Given the description of an element on the screen output the (x, y) to click on. 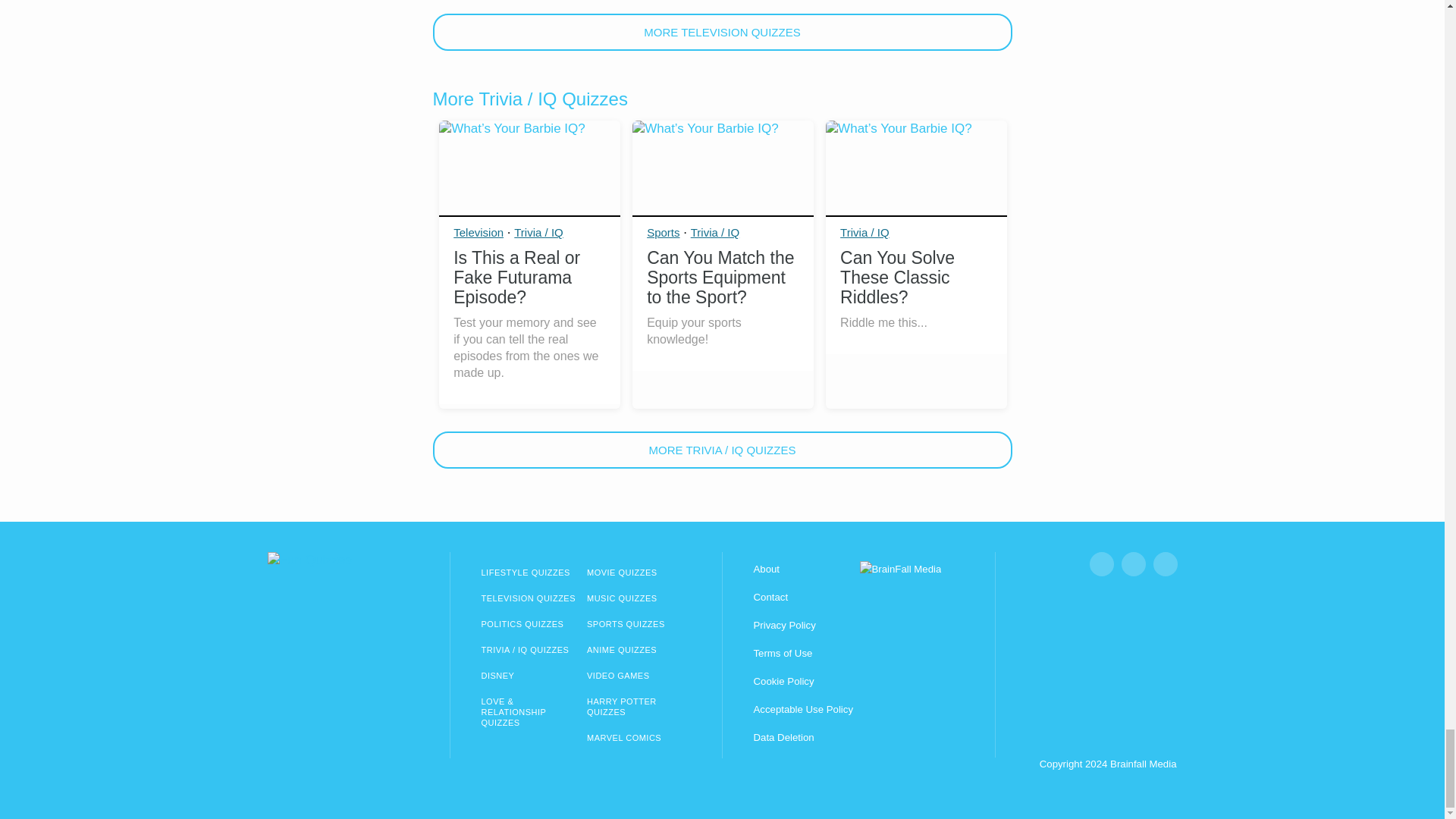
Follow us on Instagram! (1132, 564)
Like us on Facebook! (1101, 564)
Follow us on Twitter! (1164, 564)
